Given the description of an element on the screen output the (x, y) to click on. 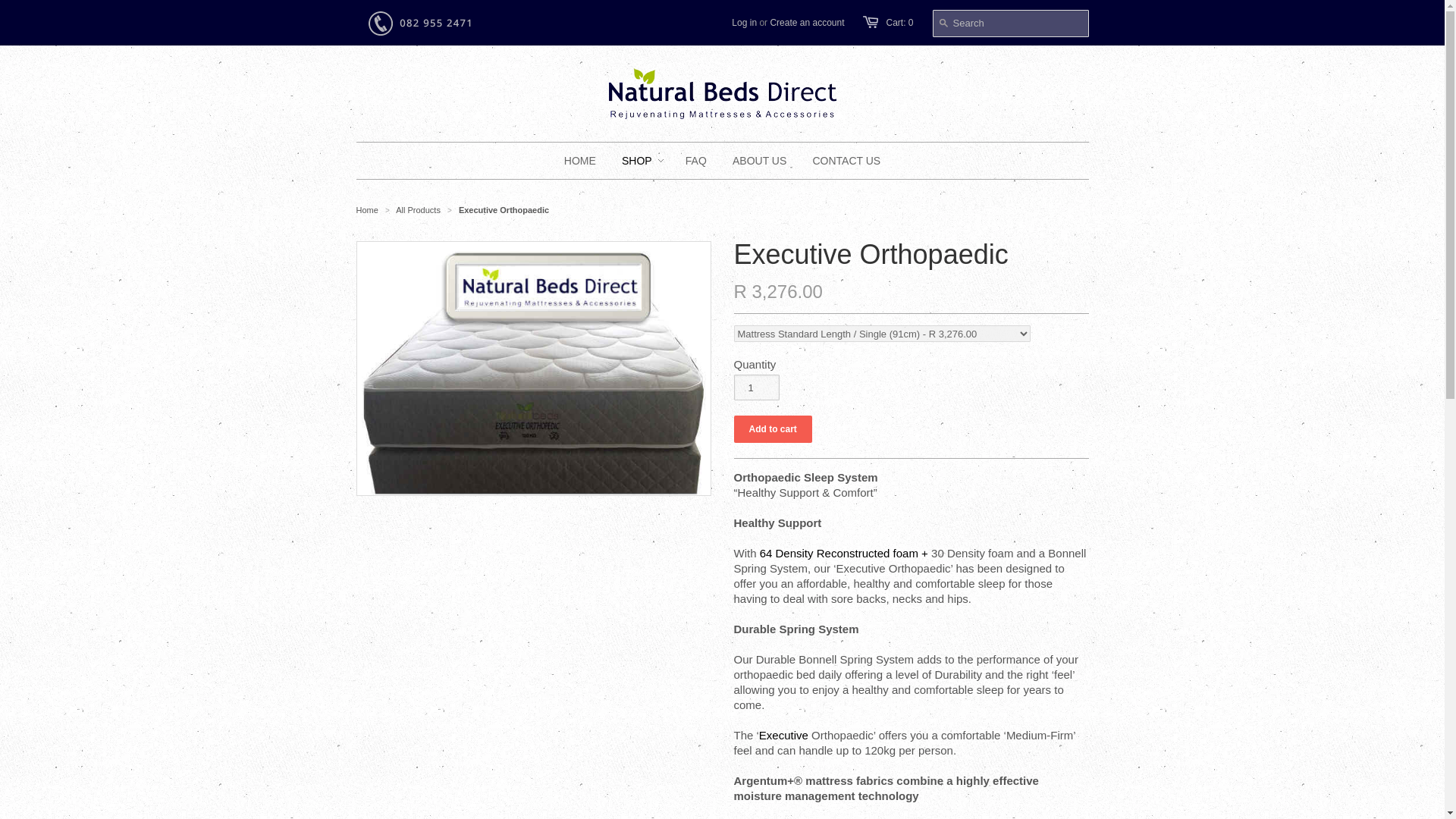
All Products (418, 209)
HOME (580, 160)
Home (367, 209)
1 (755, 387)
SHOP (636, 160)
Create an account (807, 22)
ABOUT US (758, 160)
All Products (418, 209)
CONTACT US (845, 160)
FAQ (695, 160)
Cart: 0 (898, 22)
Add to cart (772, 429)
Log in (744, 22)
Add to cart (772, 429)
Shopping Cart (898, 22)
